Given the description of an element on the screen output the (x, y) to click on. 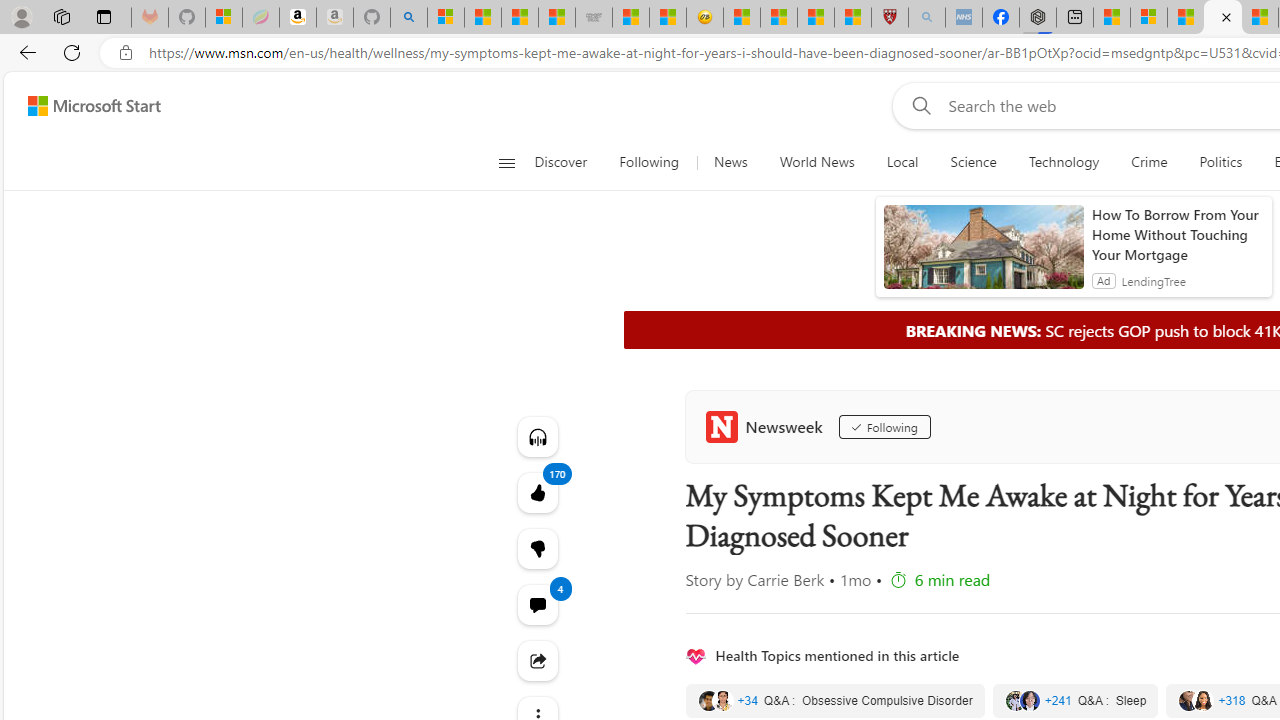
View comments 4 Comment (537, 604)
Class: quote-thumbnail (1202, 700)
170 (537, 548)
Share this story (537, 660)
